Given the description of an element on the screen output the (x, y) to click on. 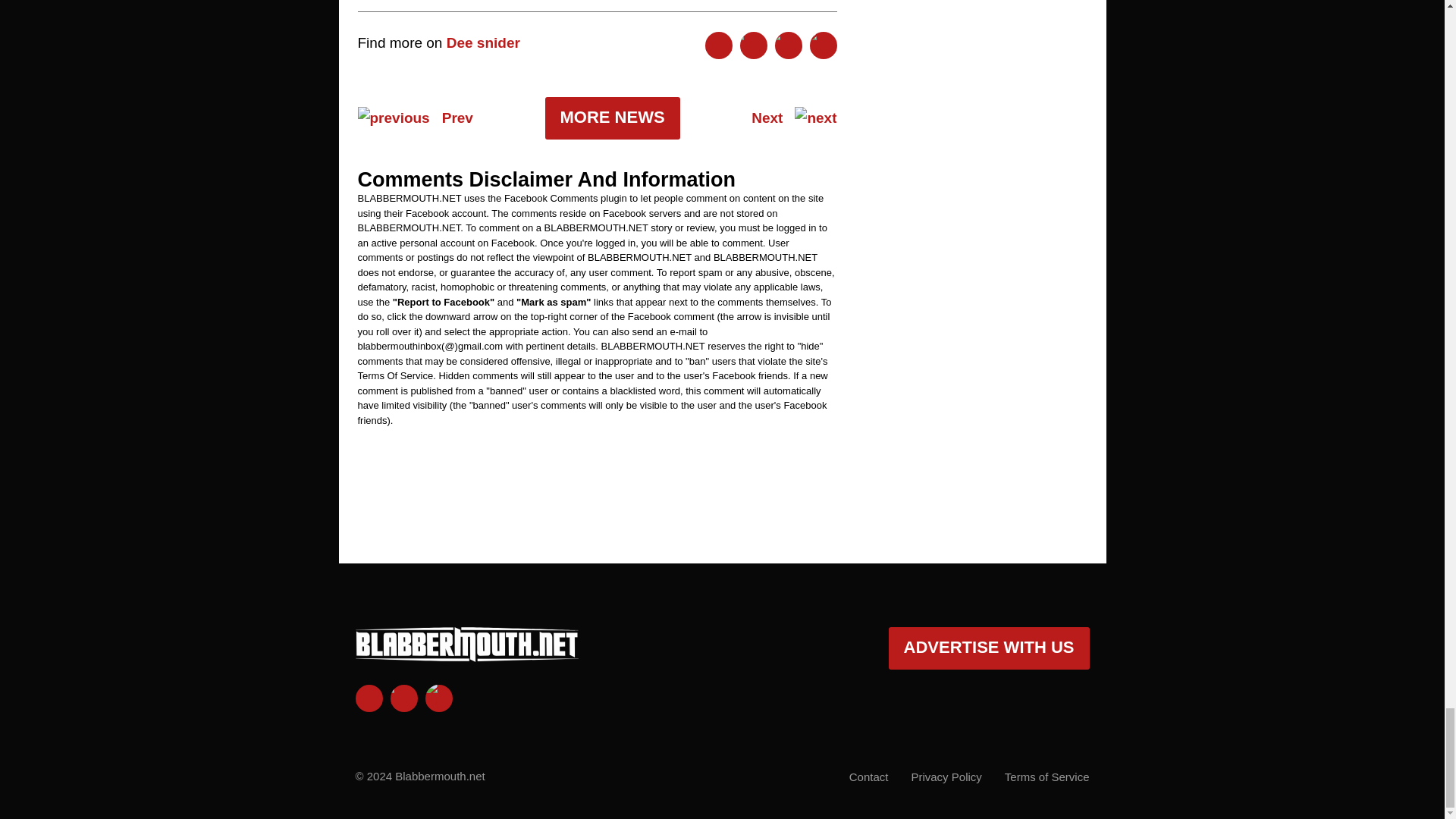
MORE NEWS (611, 118)
Prev (415, 118)
Share On Reddit (788, 44)
Next (793, 118)
Copy To Clipboard (823, 44)
Dee snider (482, 42)
blabbermouth (466, 655)
Share On Facebook (718, 44)
Share On Twitter (753, 44)
